Given the description of an element on the screen output the (x, y) to click on. 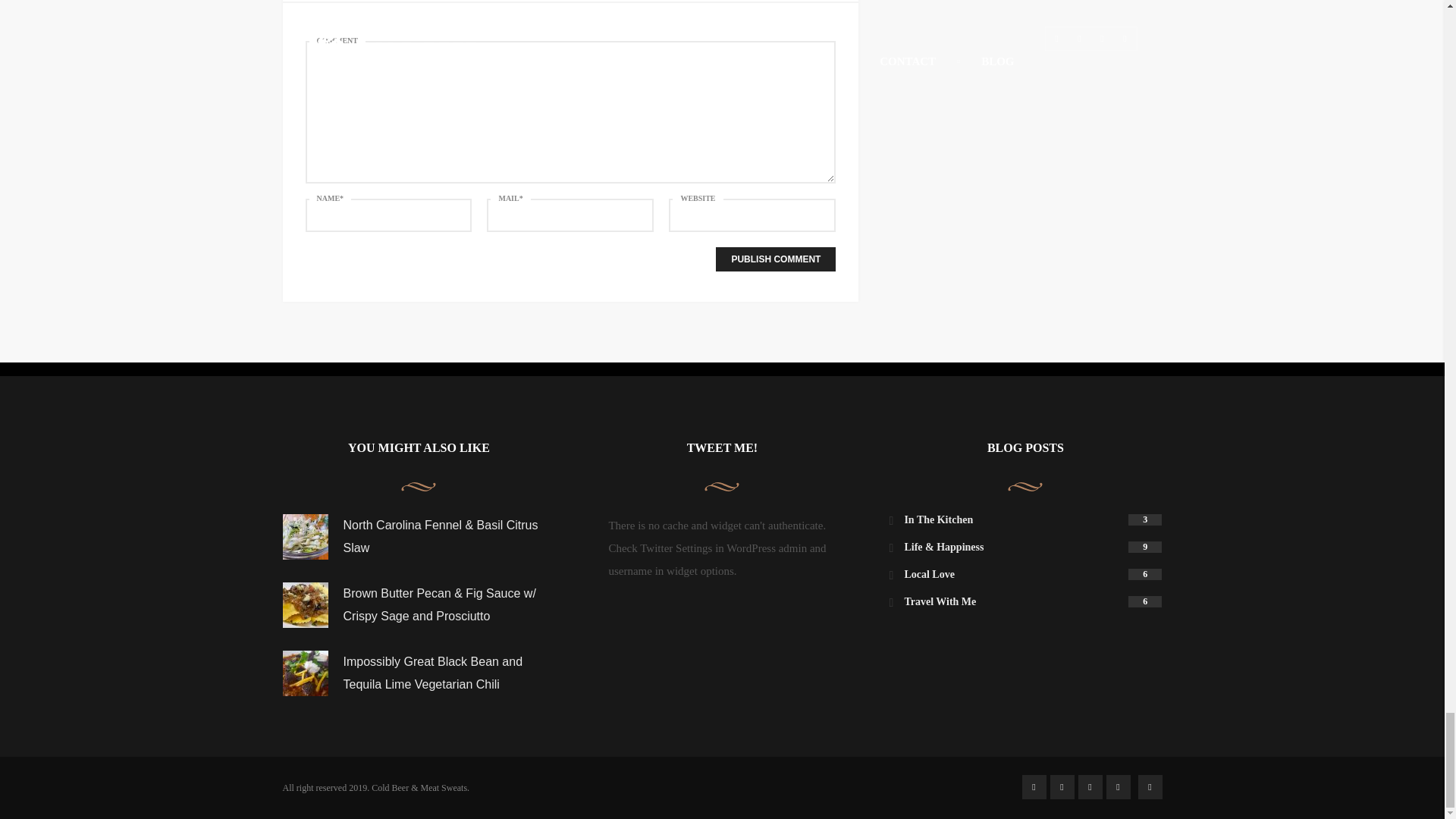
Back to top (1149, 786)
Publish Comment (775, 259)
